Given the description of an element on the screen output the (x, y) to click on. 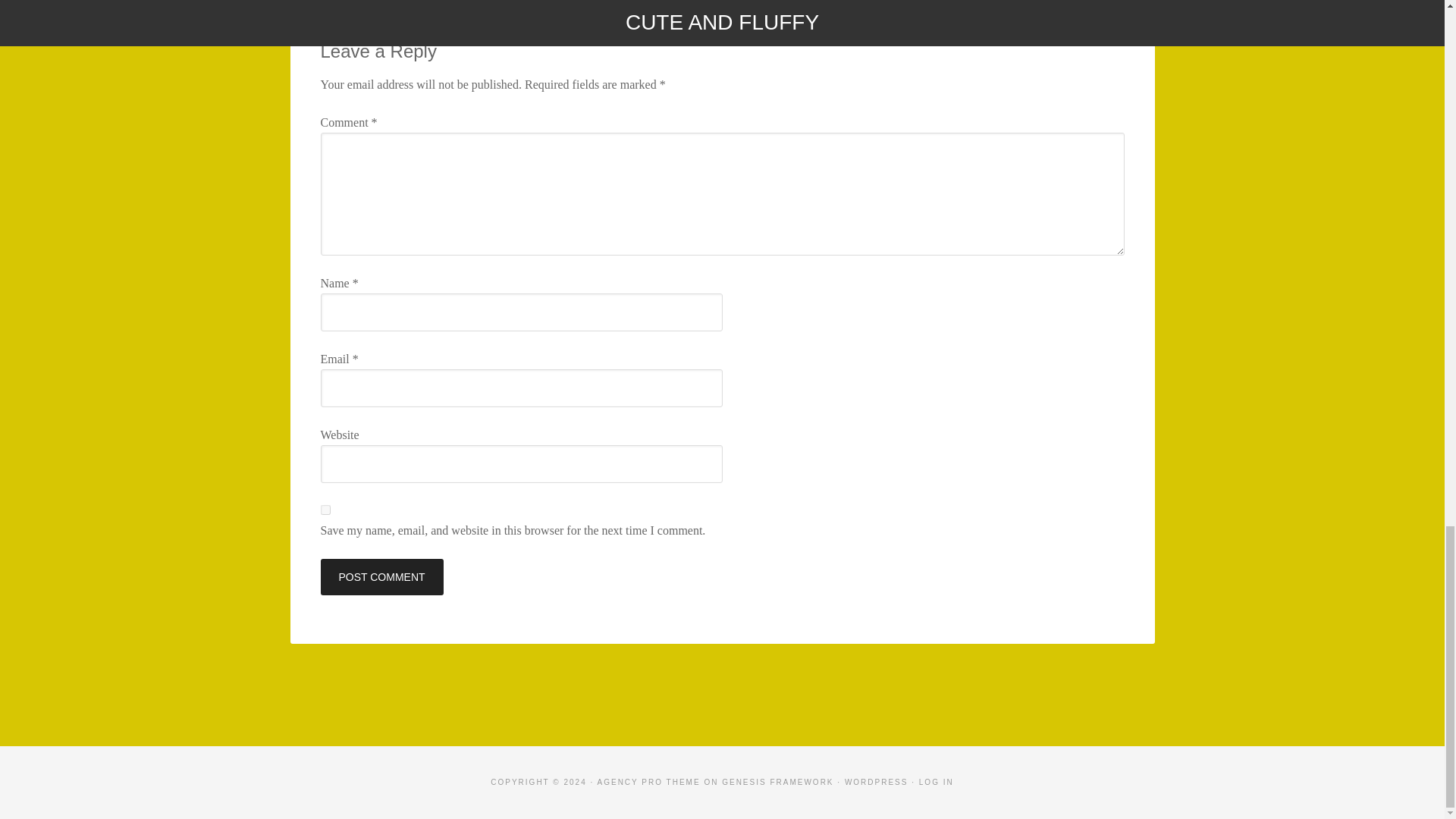
Post Comment (381, 576)
LOG IN (935, 782)
AGENCY PRO THEME (648, 782)
GENESIS FRAMEWORK (777, 782)
Post Comment (381, 576)
yes (325, 510)
WORDPRESS (876, 782)
